Given the description of an element on the screen output the (x, y) to click on. 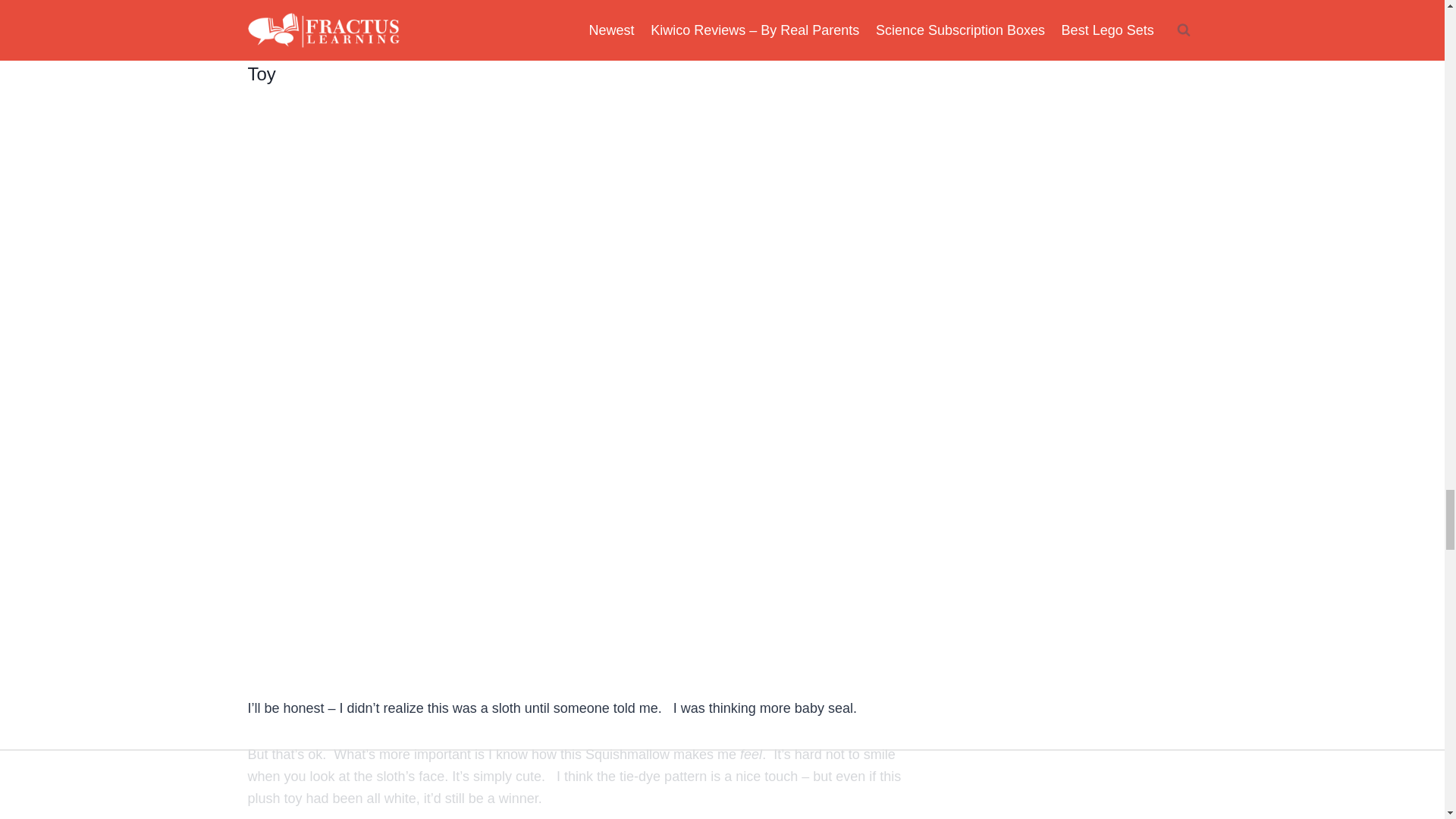
Squishmallow Sharie The Tye Dye Sloth Stuffed Plush Toy (566, 60)
